Given the description of an element on the screen output the (x, y) to click on. 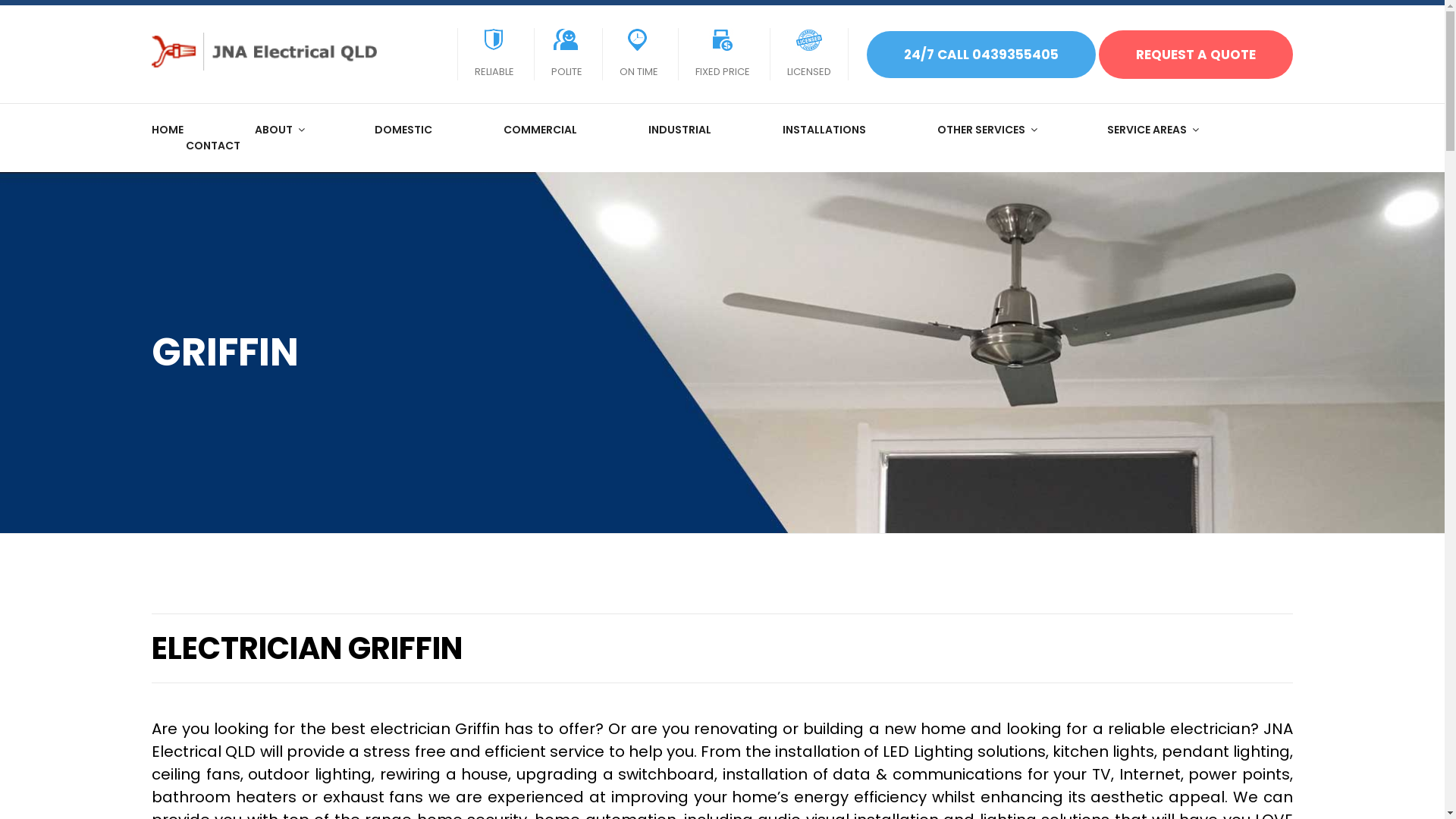
POLITE Element type: text (566, 53)
FIXED PRICE Element type: text (722, 53)
HOME Element type: text (167, 130)
INDUSTRIAL Element type: text (679, 130)
24/7 CALL 0439355405 Element type: text (980, 53)
RELIABLE Element type: text (494, 53)
OTHER SERVICES Element type: text (986, 130)
CONTACT Element type: text (212, 145)
ON TIME Element type: text (638, 53)
ABOUT Element type: text (278, 130)
DOMESTIC Element type: text (403, 130)
REQUEST A QUOTE Element type: text (1195, 54)
SERVICE AREAS Element type: text (1152, 130)
COMMERCIAL Element type: text (540, 130)
LICENSED Element type: text (809, 53)
Skip to content Element type: text (0, 0)
INSTALLATIONS Element type: text (824, 130)
